Given the description of an element on the screen output the (x, y) to click on. 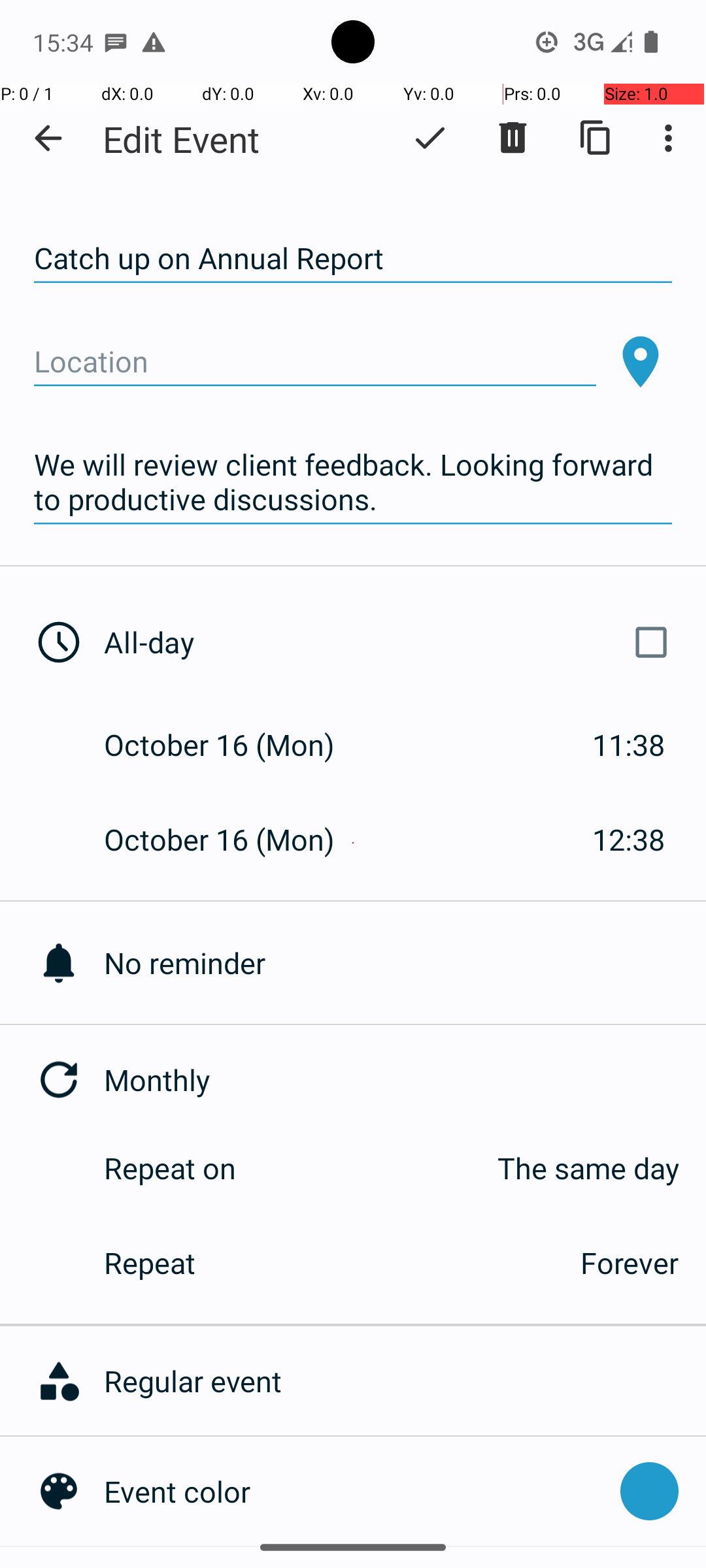
Catch up on Annual Report Element type: android.widget.EditText (352, 258)
We will review client feedback. Looking forward to productive discussions. Element type: android.widget.EditText (352, 482)
October 16 (Mon) Element type: android.widget.TextView (232, 744)
11:38 Element type: android.widget.TextView (628, 744)
12:38 Element type: android.widget.TextView (628, 838)
Monthly Element type: android.widget.TextView (404, 1079)
Repeat on Element type: android.widget.TextView (169, 1167)
The same day Element type: android.widget.TextView (470, 1167)
Repeat Element type: android.widget.TextView (328, 1262)
Forever Element type: android.widget.TextView (629, 1262)
